Given the description of an element on the screen output the (x, y) to click on. 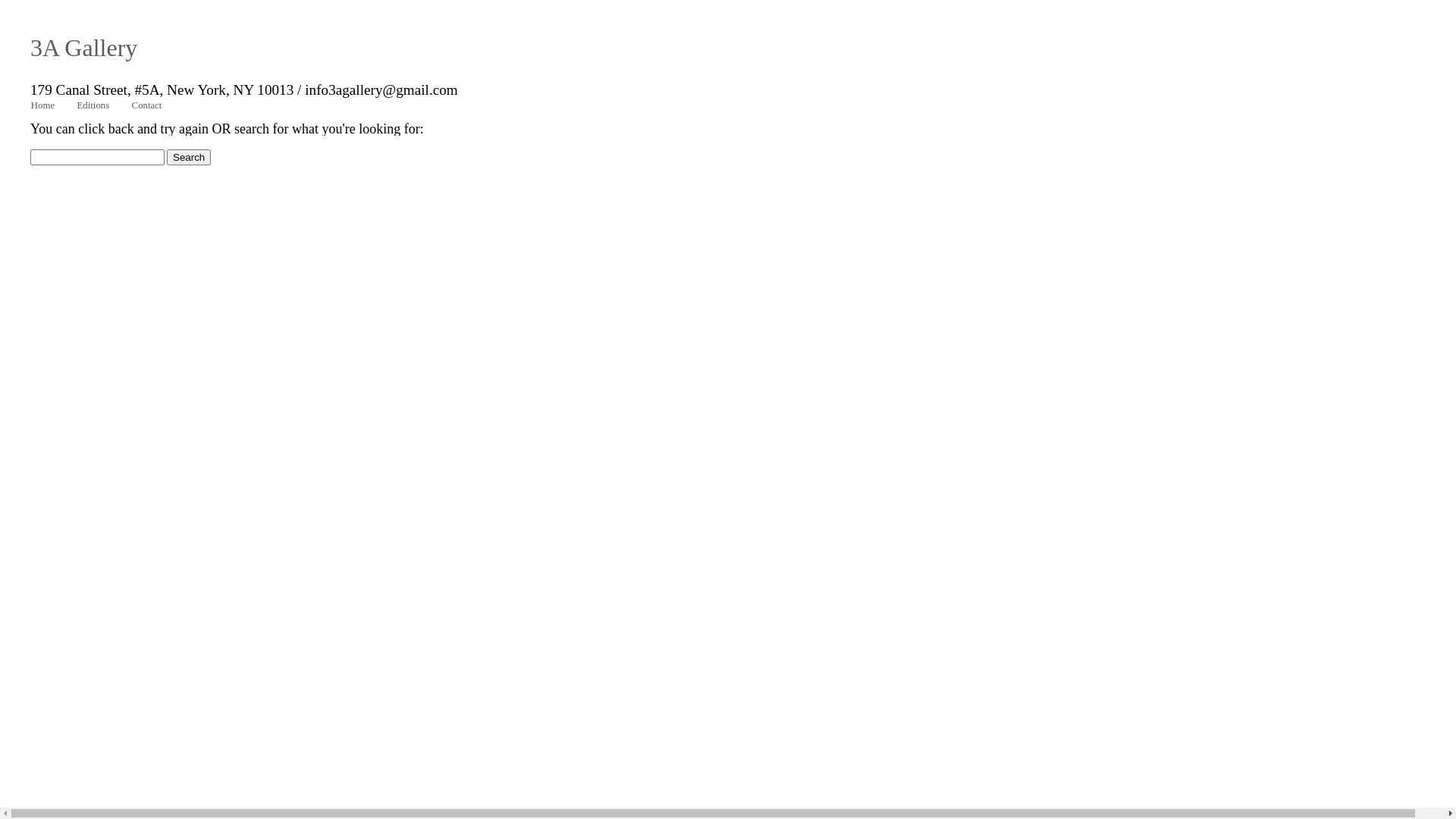
Search Element type: text (188, 157)
3A Gallery Element type: text (83, 47)
Editions Element type: text (93, 105)
Contact Element type: text (146, 105)
Home Element type: text (42, 105)
